Given the description of an element on the screen output the (x, y) to click on. 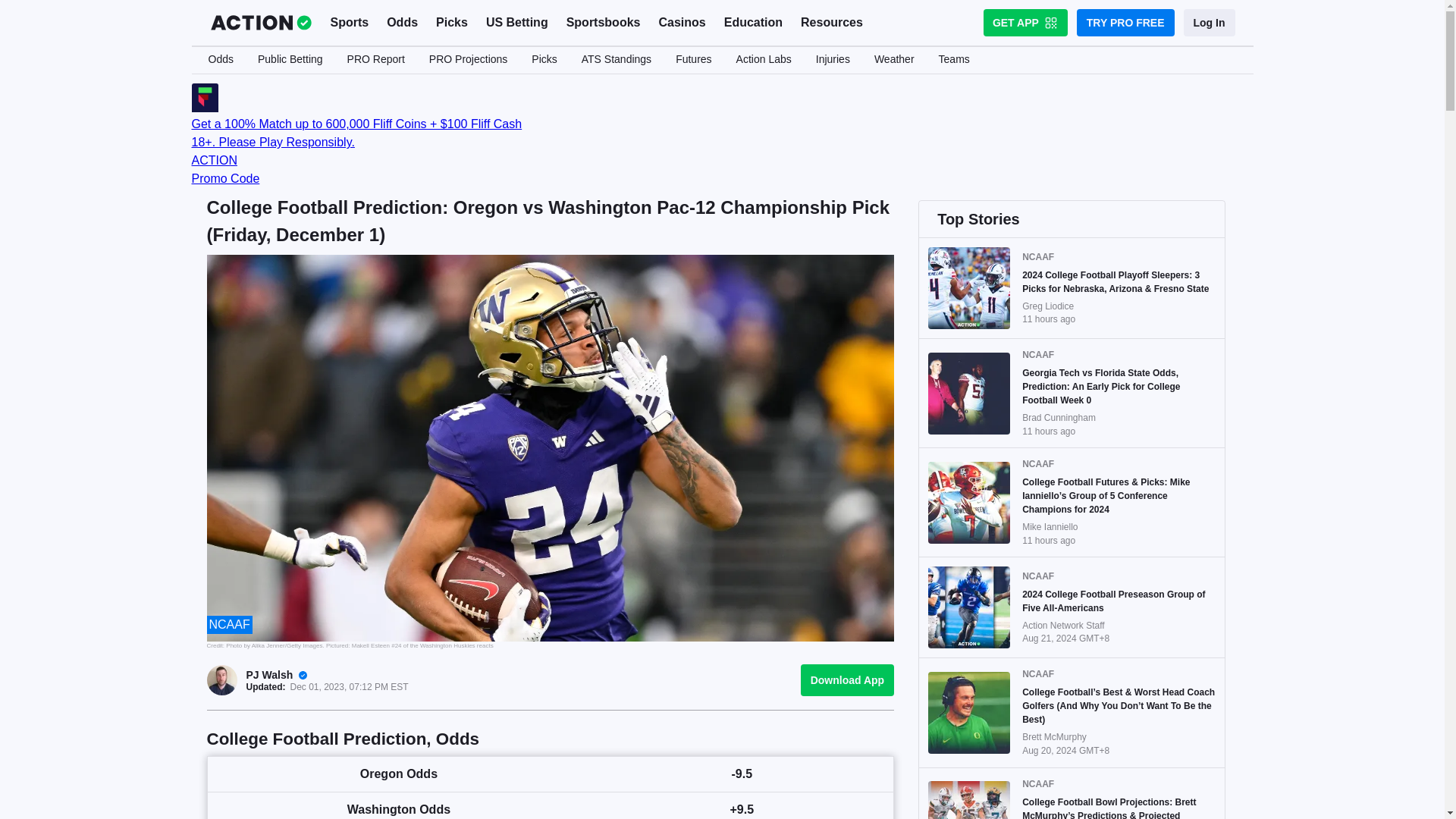
PRO Report (375, 59)
Odds (401, 23)
PRO Projections (467, 59)
Download App (846, 679)
TRY PRO FREE (1125, 22)
Casinos (681, 23)
PJ Walsh (269, 674)
NCAAF (229, 624)
2024 College Football Preseason Group of Five All-Americans (1118, 601)
GET APP (1025, 22)
